Given the description of an element on the screen output the (x, y) to click on. 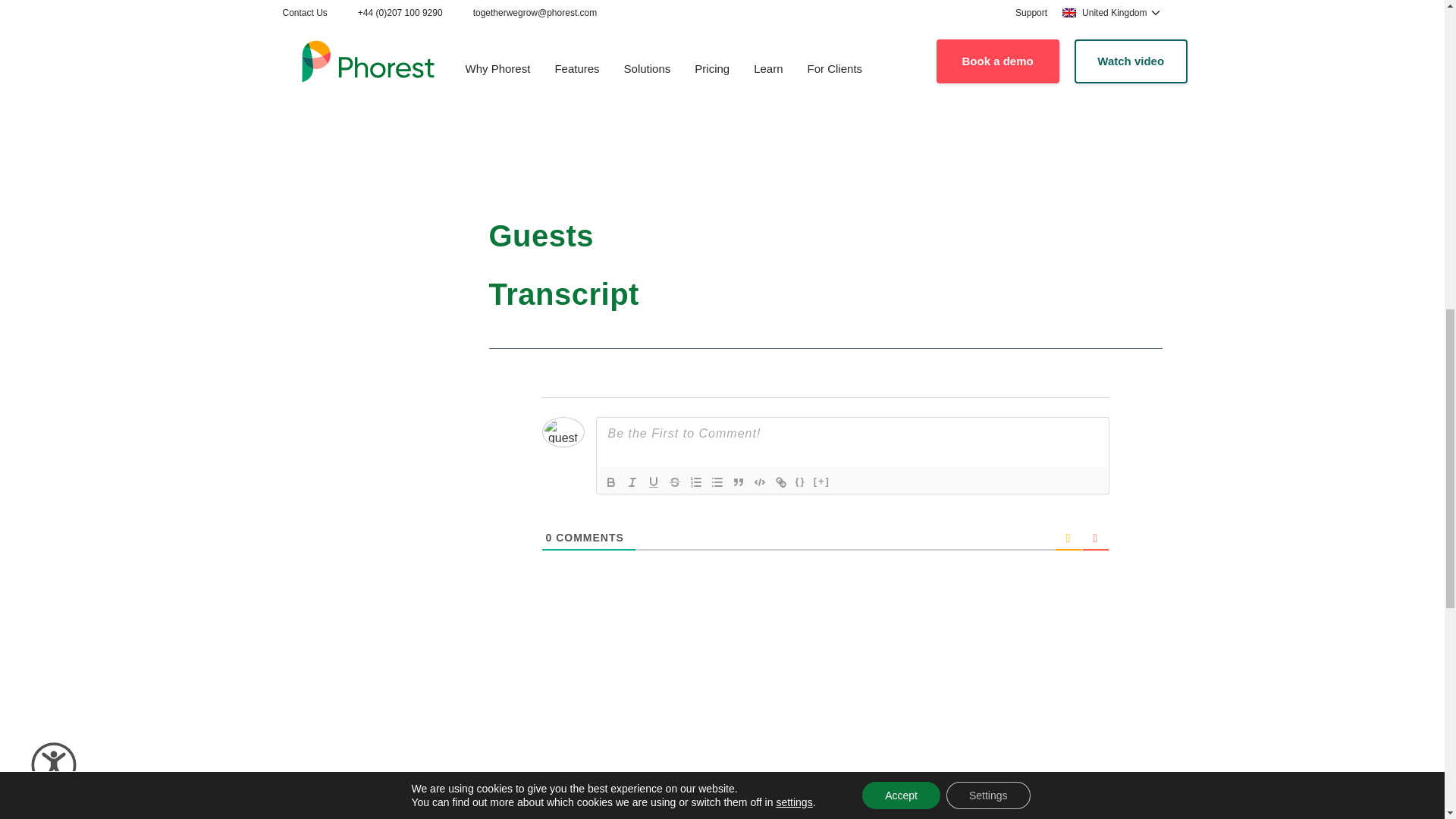
Spoiler (821, 482)
Bold (610, 482)
Code Block (759, 482)
Underline (653, 482)
Link (781, 482)
Ordered List (695, 482)
Source Code (800, 482)
Blockquote (738, 482)
Italic (632, 482)
Unordered List (717, 482)
